Given the description of an element on the screen output the (x, y) to click on. 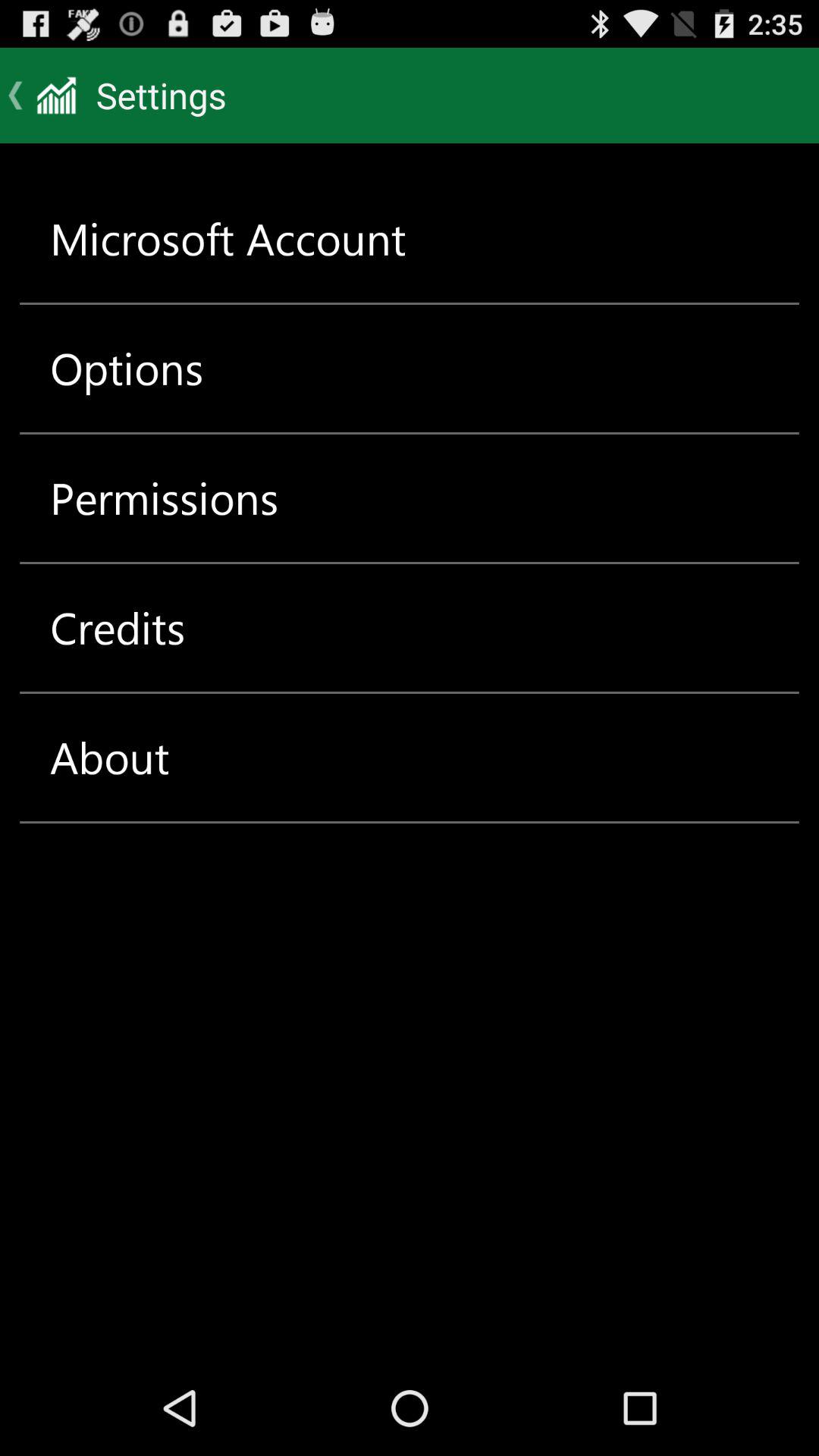
scroll until the credits icon (117, 627)
